Given the description of an element on the screen output the (x, y) to click on. 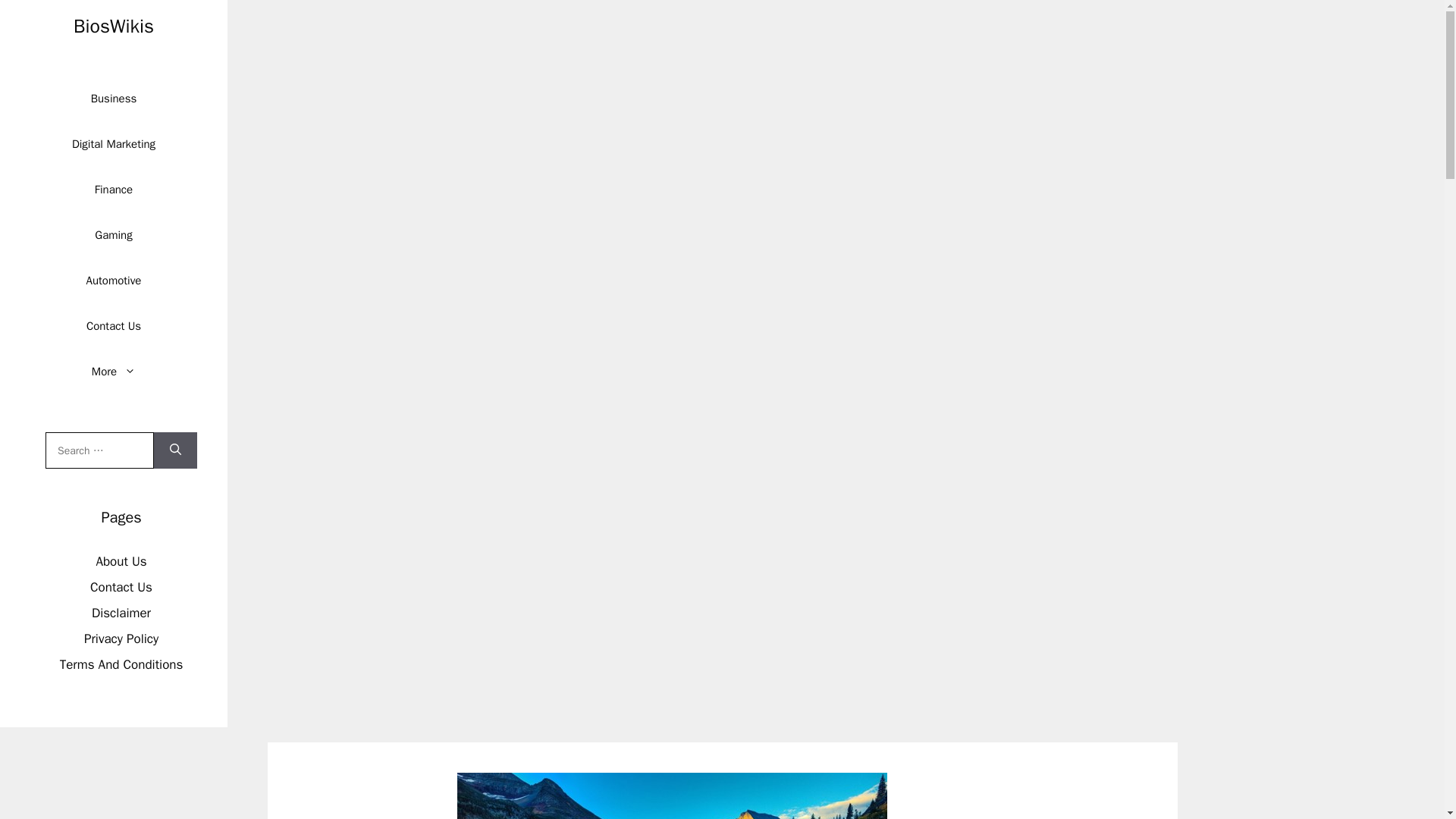
More (114, 370)
Disclaimer (121, 612)
Business (113, 98)
Terms And Conditions (121, 664)
Privacy Policy (121, 638)
Search for: (99, 450)
About Us (121, 561)
Gaming (113, 234)
Finance (114, 189)
BiosWikis (114, 25)
